Given the description of an element on the screen output the (x, y) to click on. 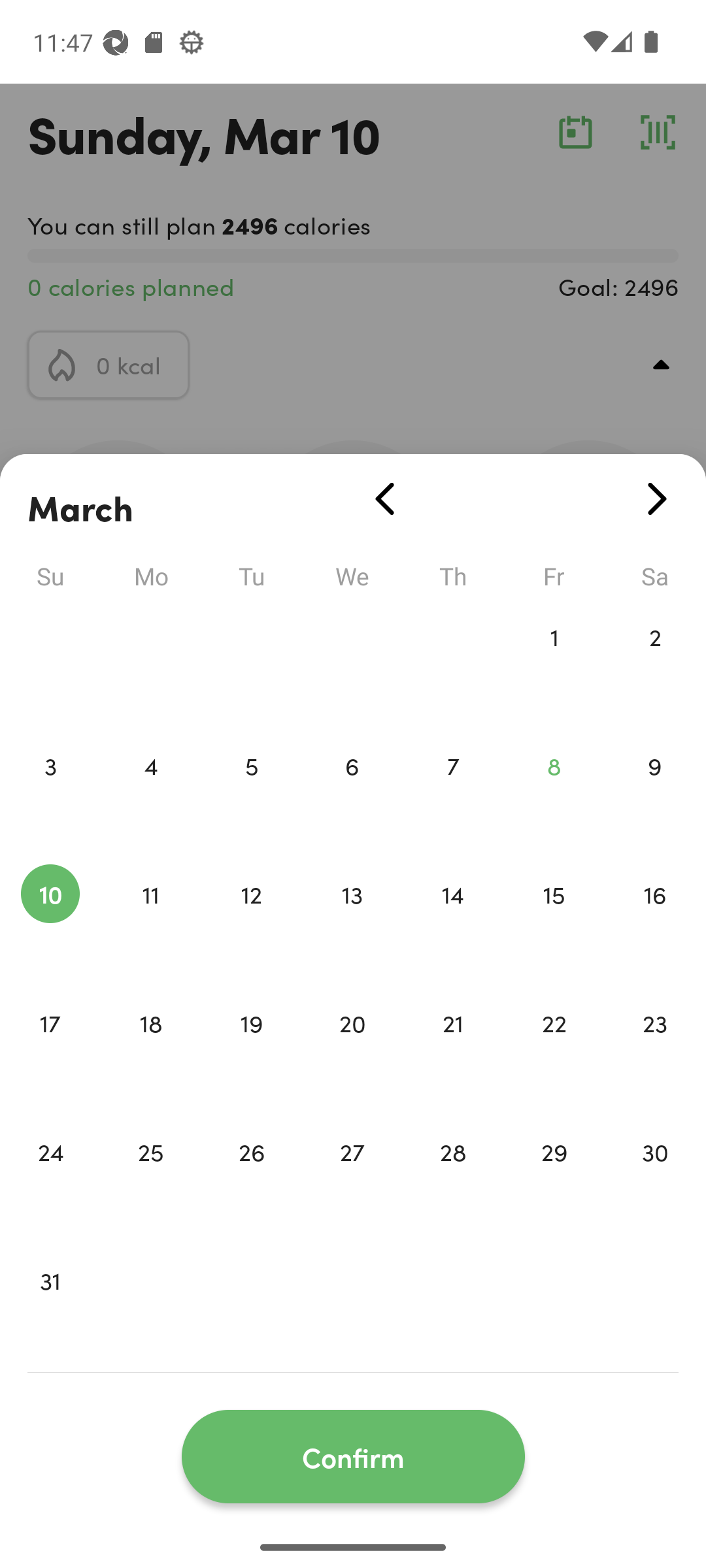
1 (554, 663)
2 (655, 663)
3 (50, 793)
4 (150, 793)
5 (251, 793)
6 (352, 793)
7 (453, 793)
8 (554, 793)
9 (655, 793)
10 (50, 921)
11 (150, 921)
12 (251, 921)
13 (352, 921)
14 (453, 921)
15 (554, 921)
16 (655, 921)
17 (50, 1050)
18 (150, 1050)
19 (251, 1050)
20 (352, 1050)
21 (453, 1050)
22 (554, 1050)
23 (655, 1050)
24 (50, 1178)
25 (150, 1178)
26 (251, 1178)
27 (352, 1178)
28 (453, 1178)
29 (554, 1178)
30 (655, 1178)
31 (50, 1307)
Confirm (353, 1456)
